Given the description of an element on the screen output the (x, y) to click on. 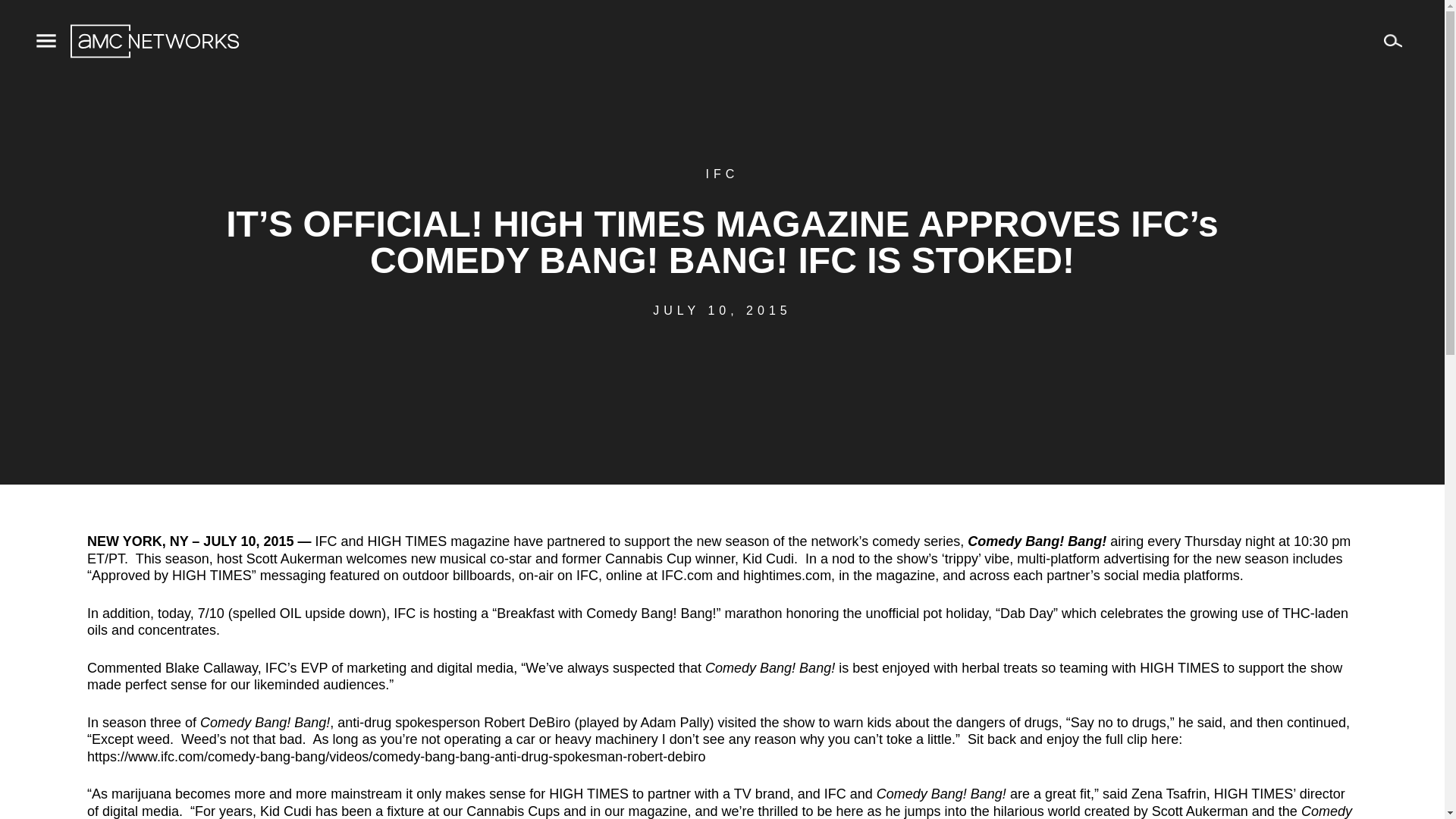
HIGH TIMES (407, 540)
IFC (325, 540)
IFC (722, 173)
AMC Networks (153, 41)
